Given the description of an element on the screen output the (x, y) to click on. 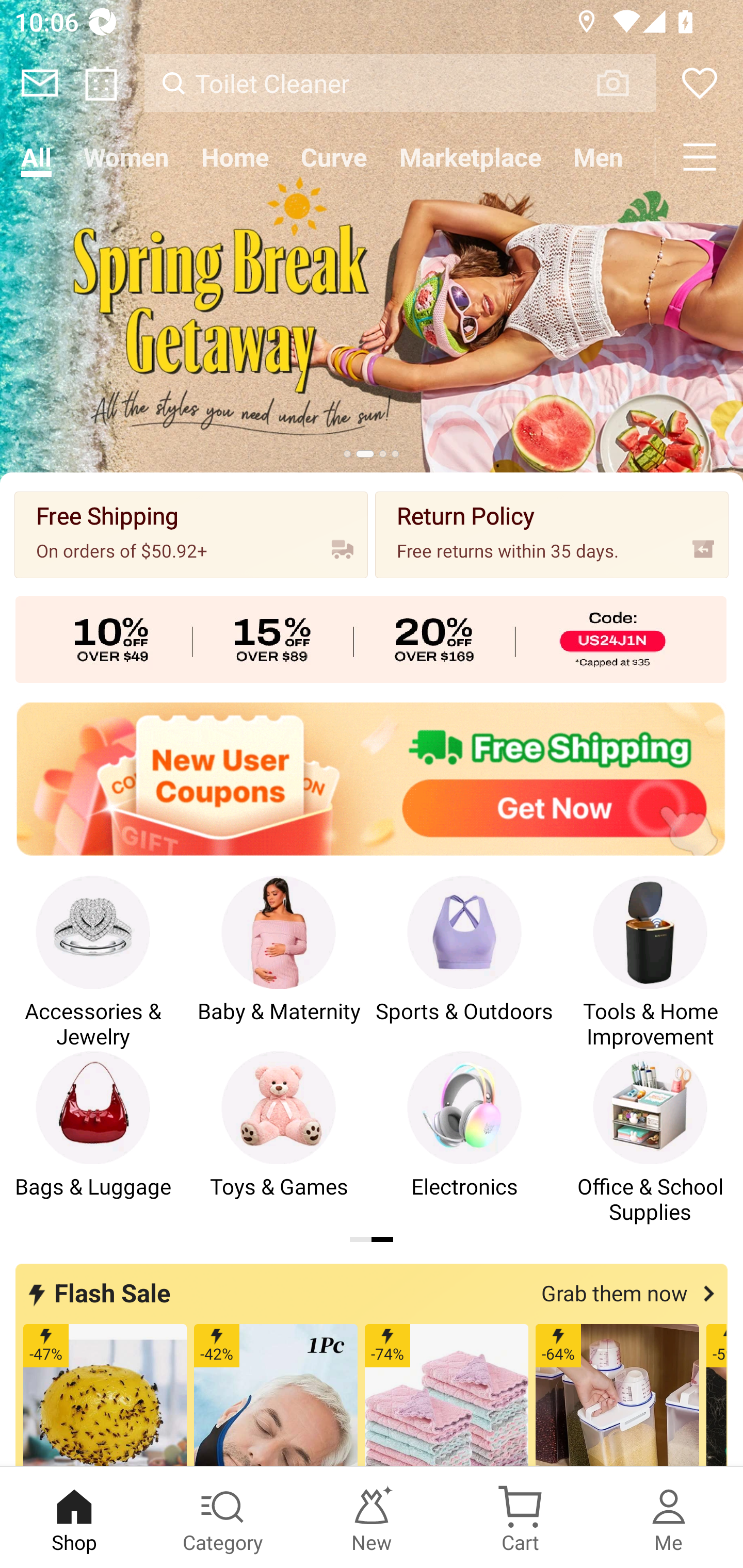
Wishlist (699, 82)
VISUAL SEARCH (623, 82)
All (36, 156)
Women (126, 156)
Home (234, 156)
Curve (333, 156)
Marketplace (470, 156)
Men (597, 156)
Free Shipping On orders of $50.92+ (190, 534)
Return Policy Free returns within 35 days. (551, 534)
Accessories & Jewelry (92, 962)
Baby & Maternity (278, 962)
Sports & Outdoors (464, 962)
Tools & Home Improvement (650, 962)
Bags & Luggage (92, 1138)
Toys & Games (278, 1138)
Electronics (464, 1138)
Office & School Supplies (650, 1138)
Category (222, 1517)
New (371, 1517)
Cart (519, 1517)
Me (668, 1517)
